Given the description of an element on the screen output the (x, y) to click on. 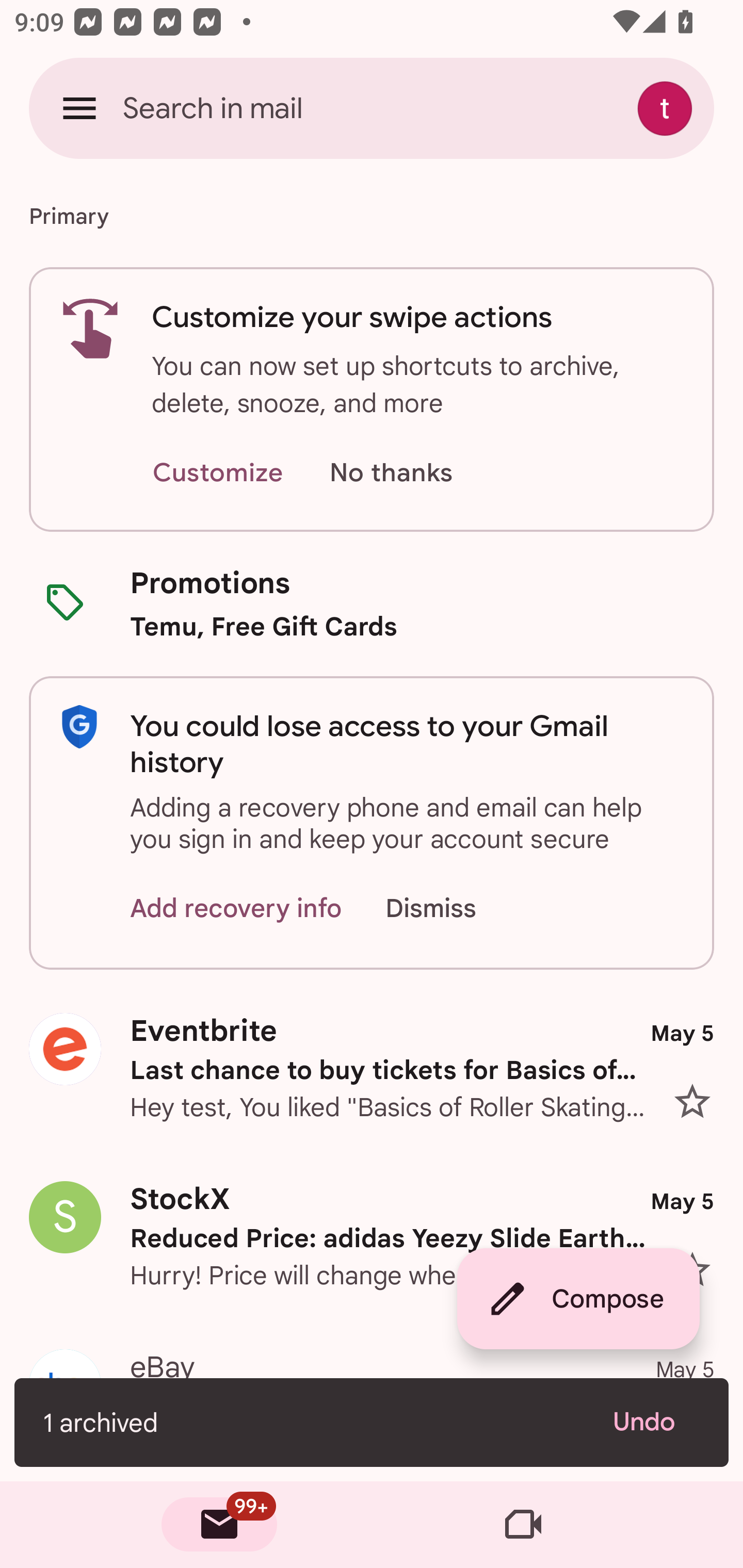
Open navigation drawer (79, 108)
Customize (217, 473)
No thanks (390, 473)
Promotions Temu, Free Gift Cards (371, 603)
Add recovery info (235, 908)
Dismiss (449, 908)
Compose (577, 1299)
Undo (655, 1422)
Meet (523, 1524)
